Given the description of an element on the screen output the (x, y) to click on. 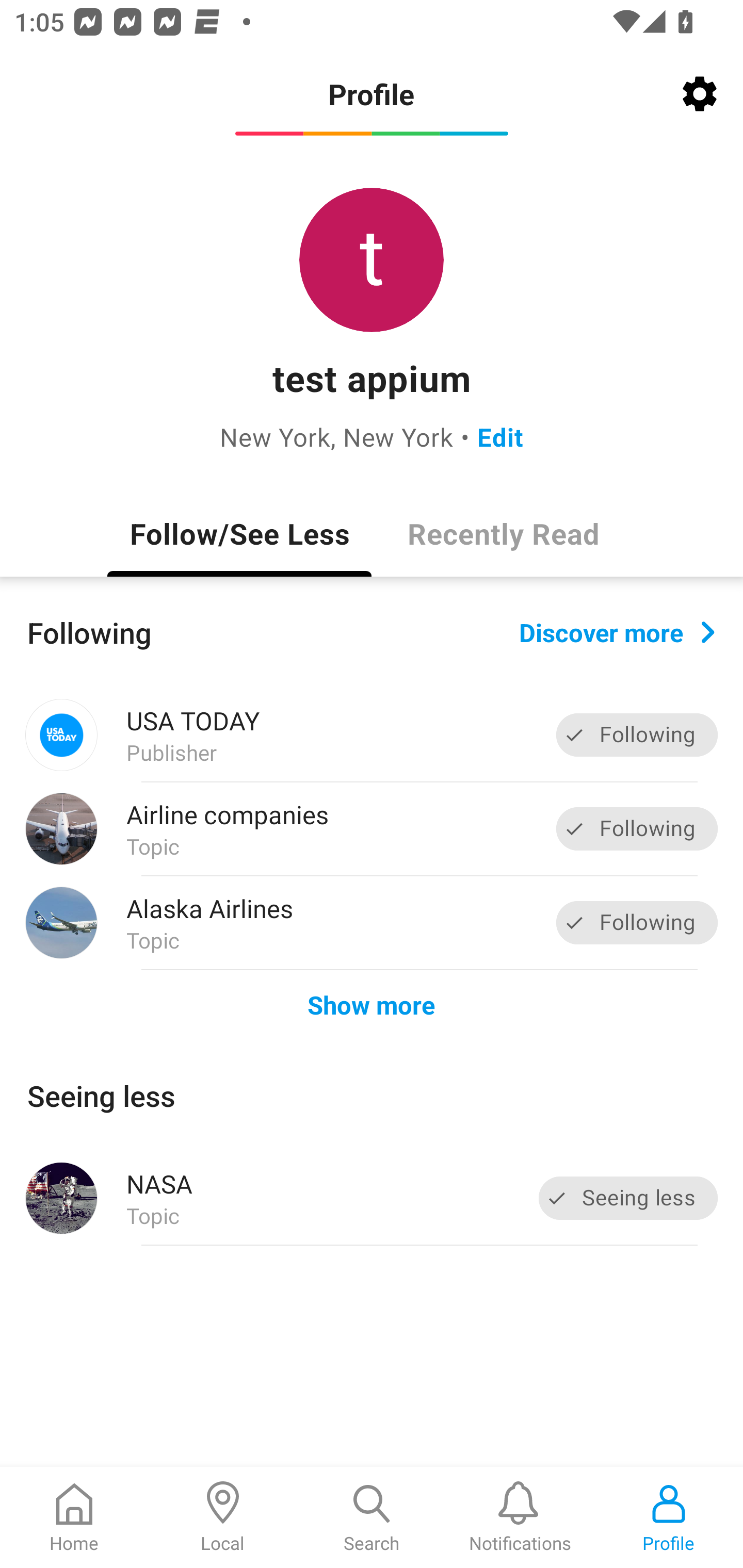
Settings (699, 93)
Edit (500, 436)
Recently Read (503, 533)
Discover more (617, 631)
USA TODAY Publisher Following (371, 735)
Following (636, 735)
Airline companies Topic Following (371, 829)
Following (636, 828)
Alaska Airlines Topic Following (371, 922)
Following (636, 922)
Show more (371, 1004)
NASA Topic Seeing less (371, 1197)
Seeing less (627, 1197)
Home (74, 1517)
Local (222, 1517)
Search (371, 1517)
Notifications (519, 1517)
